Given the description of an element on the screen output the (x, y) to click on. 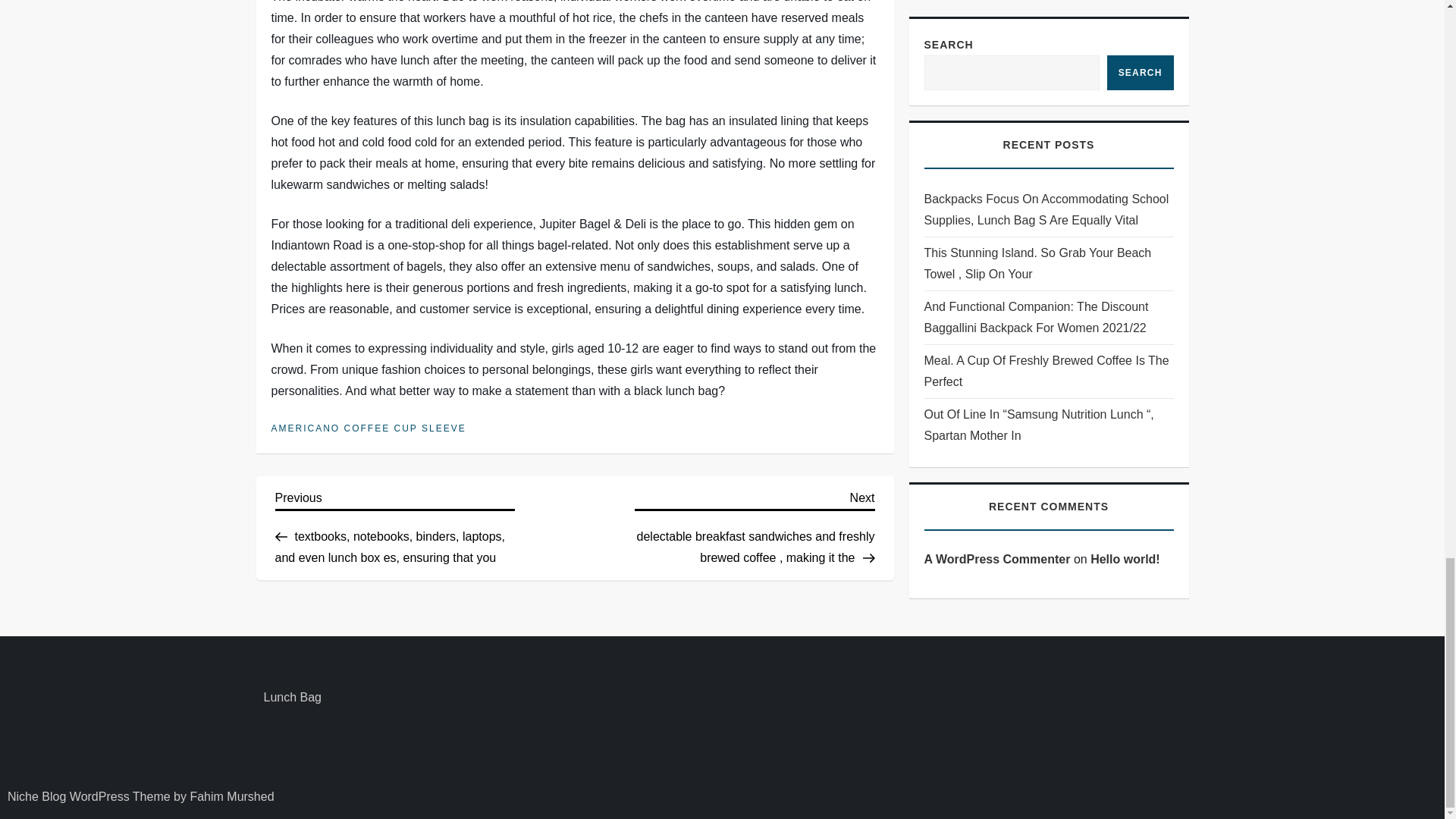
Fahim Murshed (231, 796)
AMERICANO COFFEE CUP SLEEVE (367, 428)
Lunch Bag (292, 697)
